Given the description of an element on the screen output the (x, y) to click on. 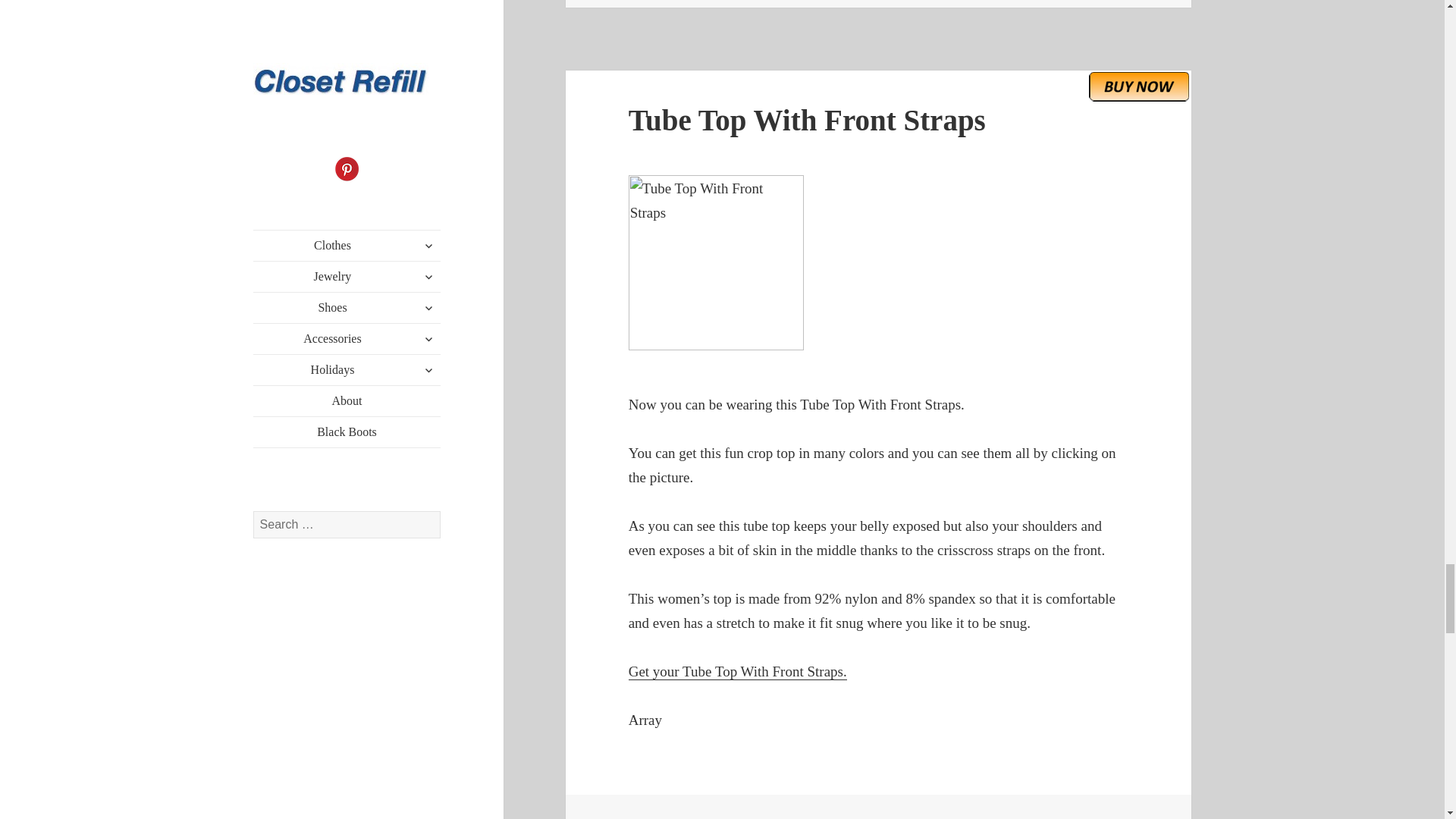
buy Tube Top With Front Straps (1139, 86)
